Given the description of an element on the screen output the (x, y) to click on. 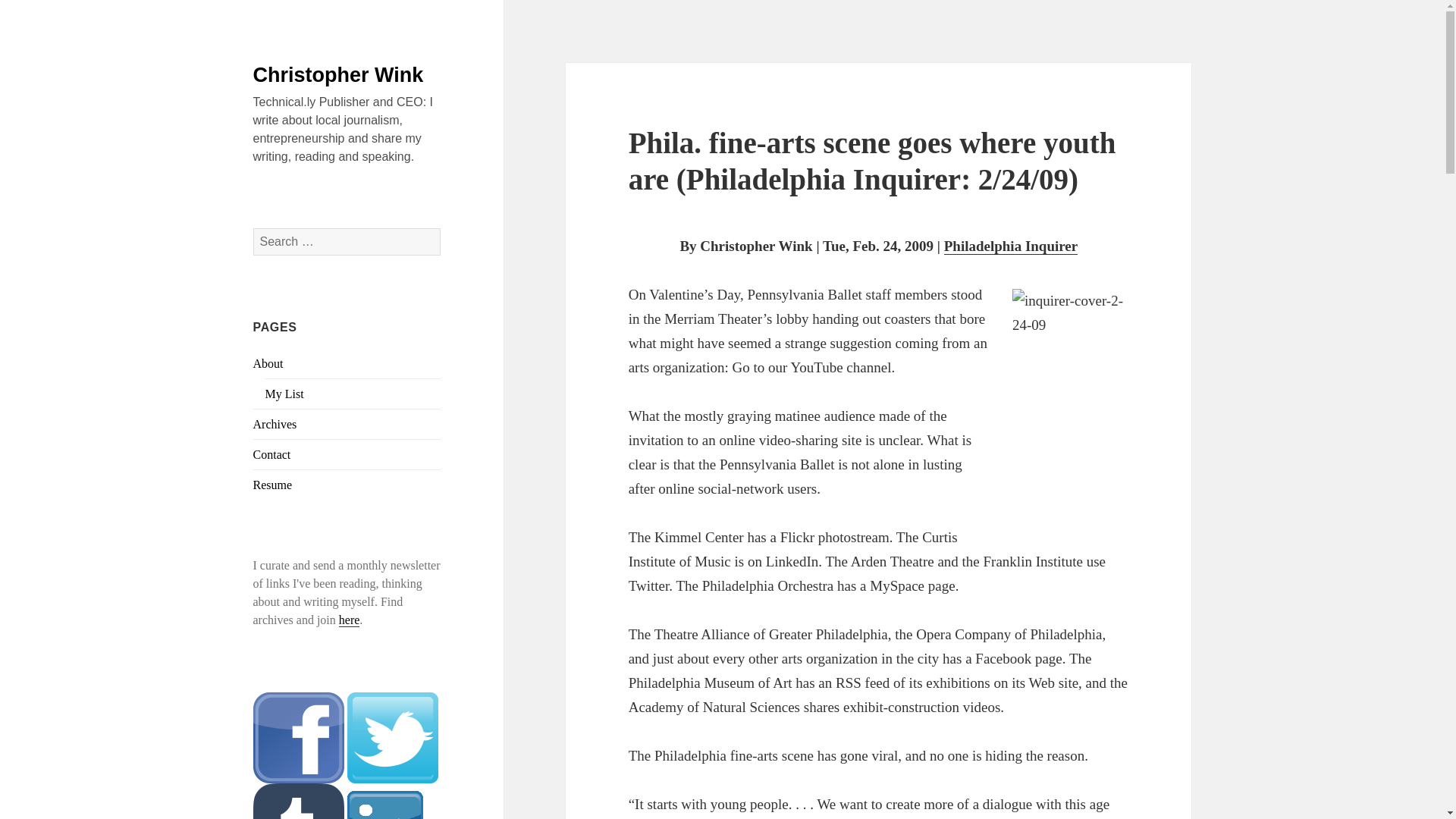
Contact (272, 454)
Christopher Wink (338, 74)
Resume (272, 484)
here (349, 620)
Archives (275, 423)
About (268, 363)
inquirer-cover-2-24-09 (1070, 402)
Philadelphia Inquirer (1010, 246)
My List (284, 393)
